Given the description of an element on the screen output the (x, y) to click on. 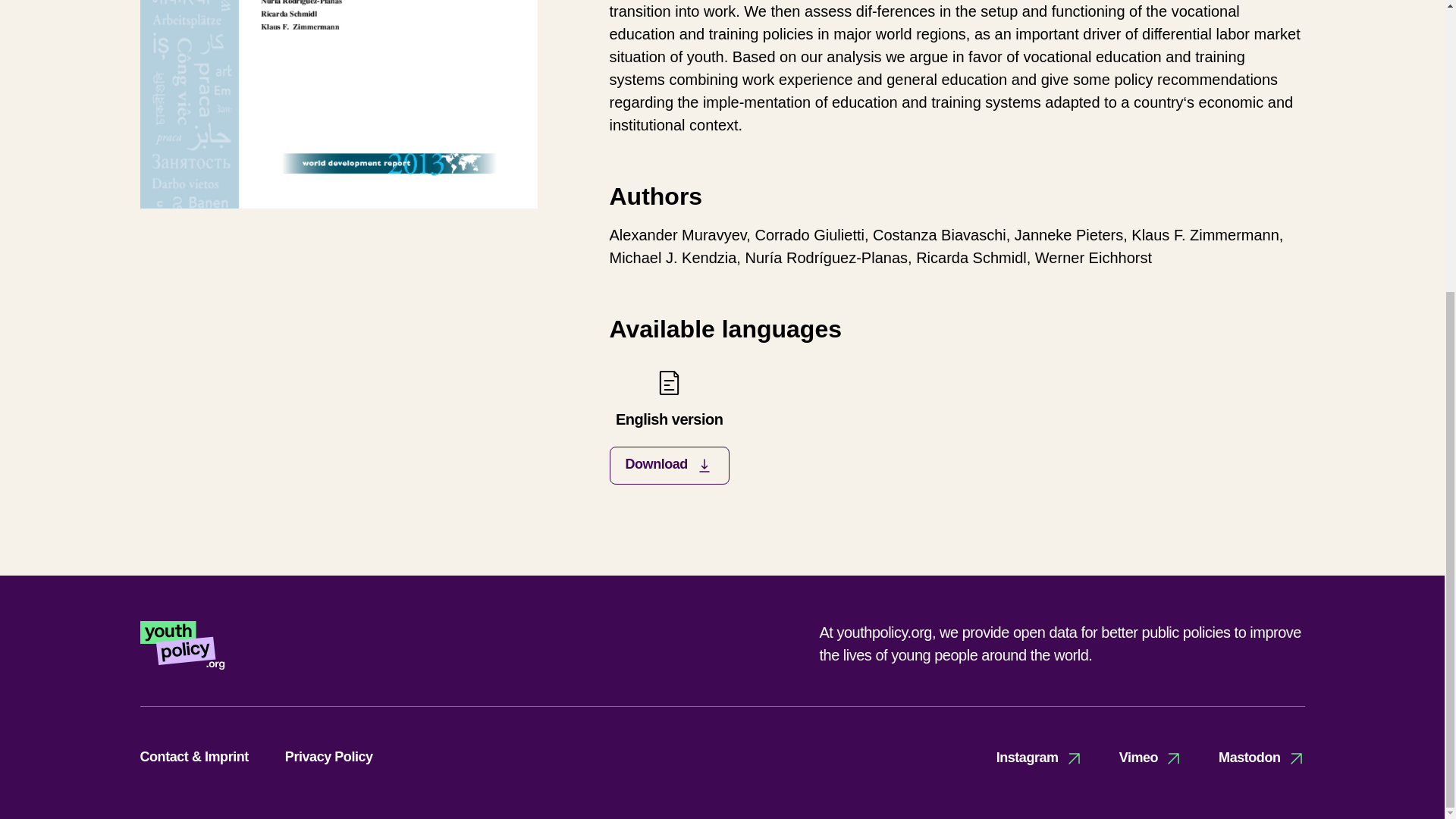
Instagram (1039, 757)
Mastodon (1261, 757)
Vimeo (1150, 757)
Privacy Policy (328, 757)
